Given the description of an element on the screen output the (x, y) to click on. 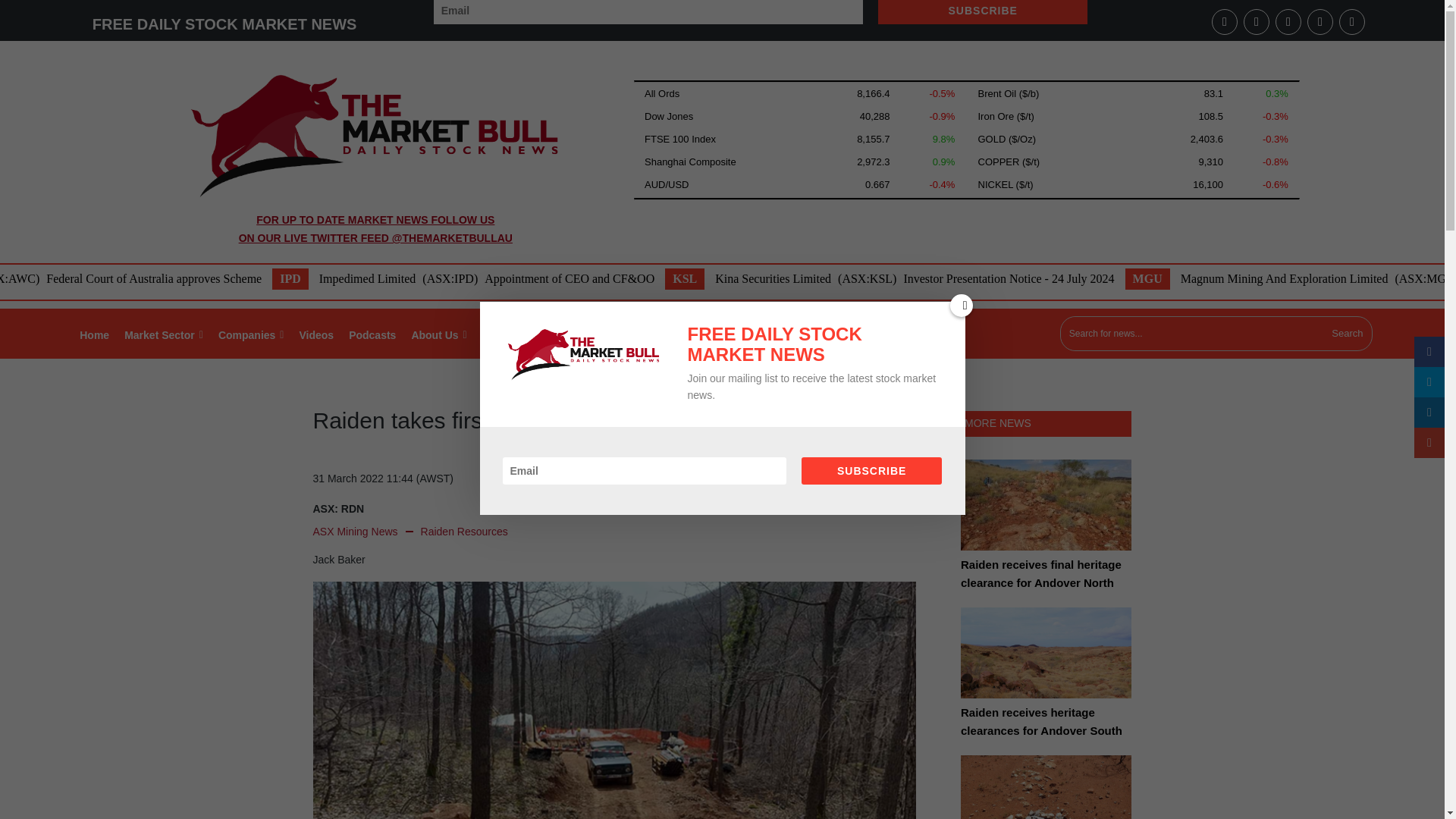
SUBSCRIBE (982, 12)
Raiden receives final heritage clearance for Andover North (1045, 515)
Follow on LinkedIn (1256, 22)
Follow on Youtube (1224, 22)
Raiden receives heritage clearances for Andover South (1045, 663)
Follow on Instagram (1320, 22)
Search (1347, 333)
Search (1347, 333)
Follow on X (1288, 22)
Follow on TikTok (1352, 22)
